Given the description of an element on the screen output the (x, y) to click on. 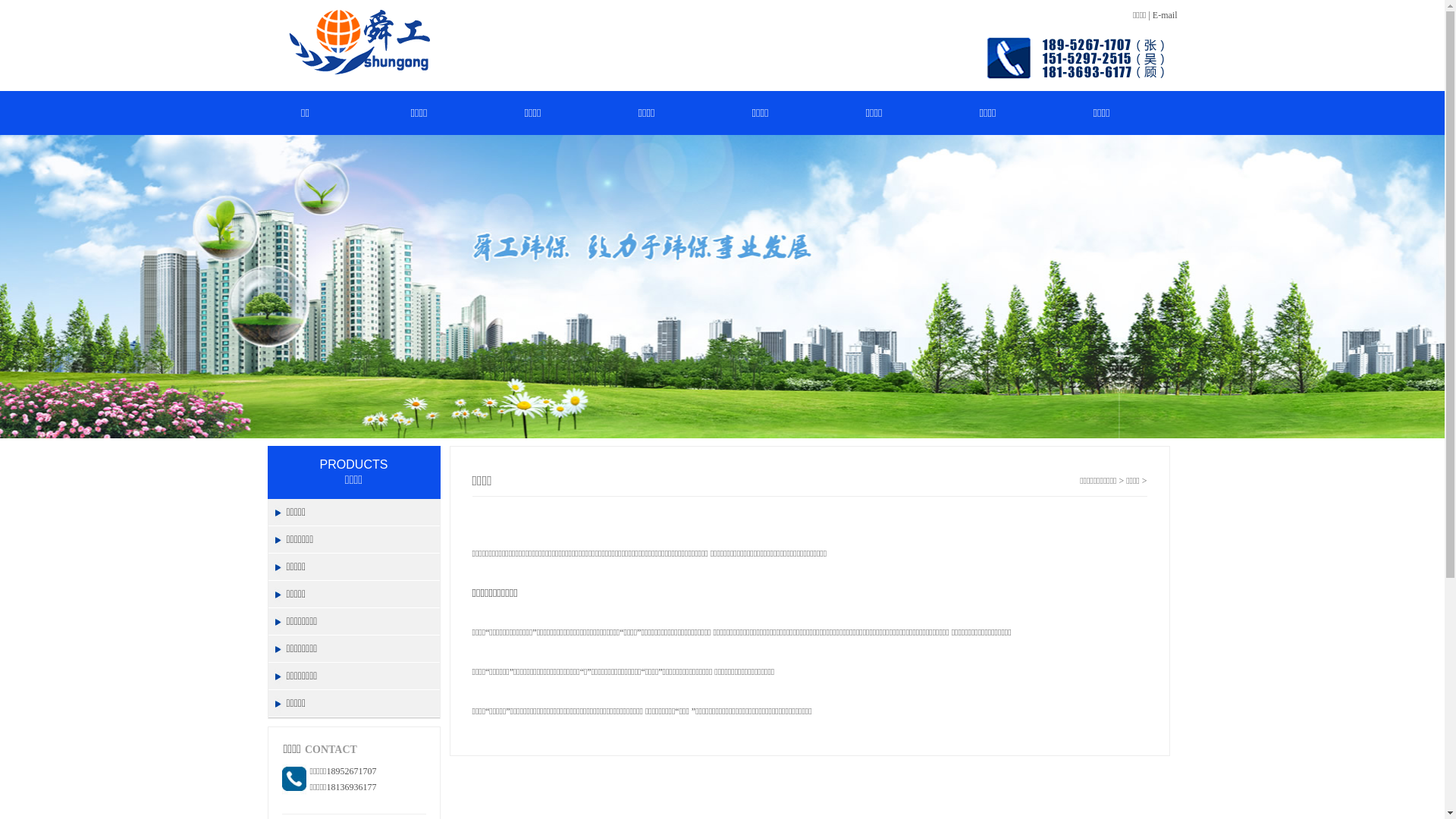
E-mail Element type: text (1164, 14)
